Given the description of an element on the screen output the (x, y) to click on. 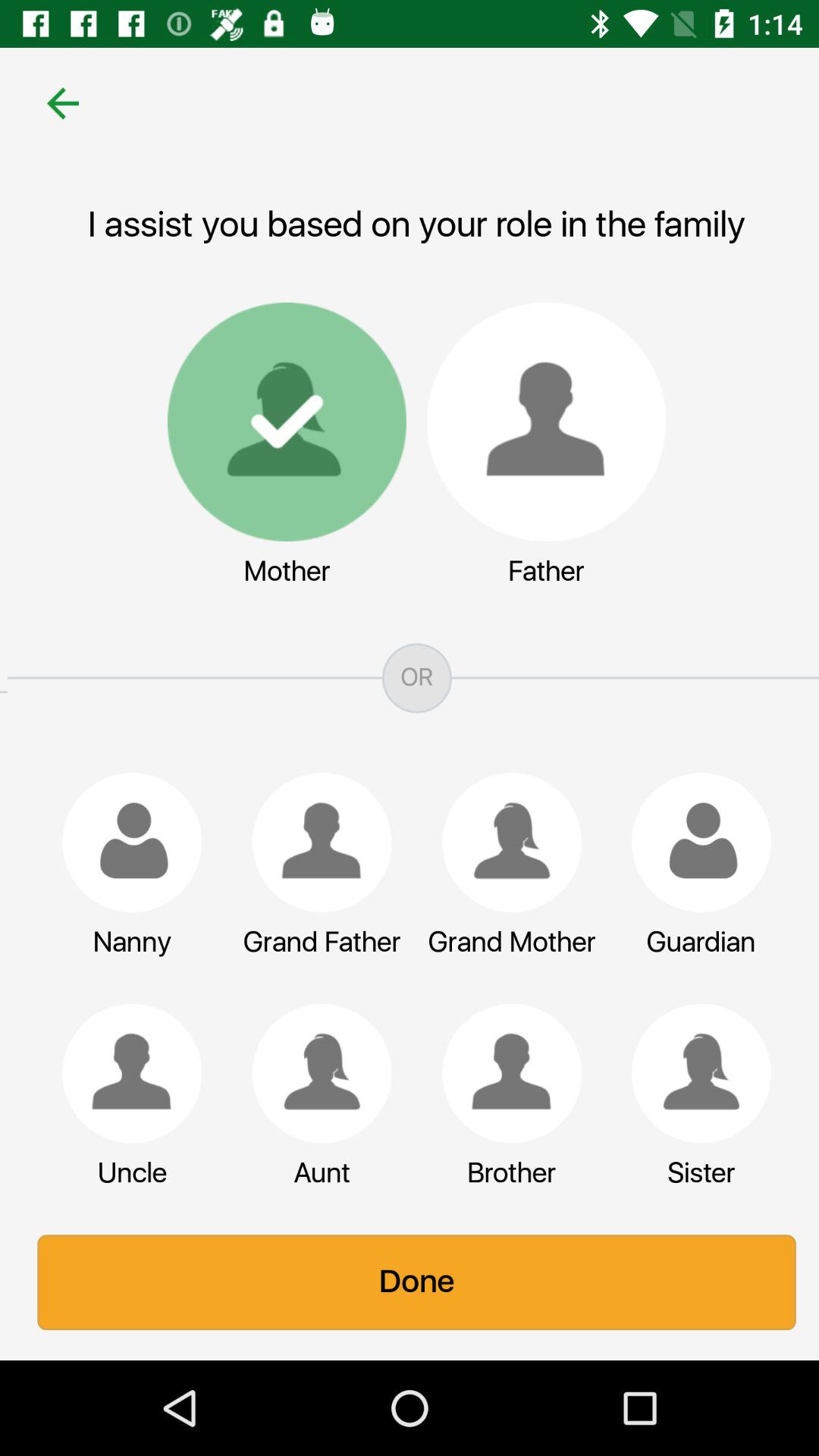
toggle mother option (279, 421)
